Given the description of an element on the screen output the (x, y) to click on. 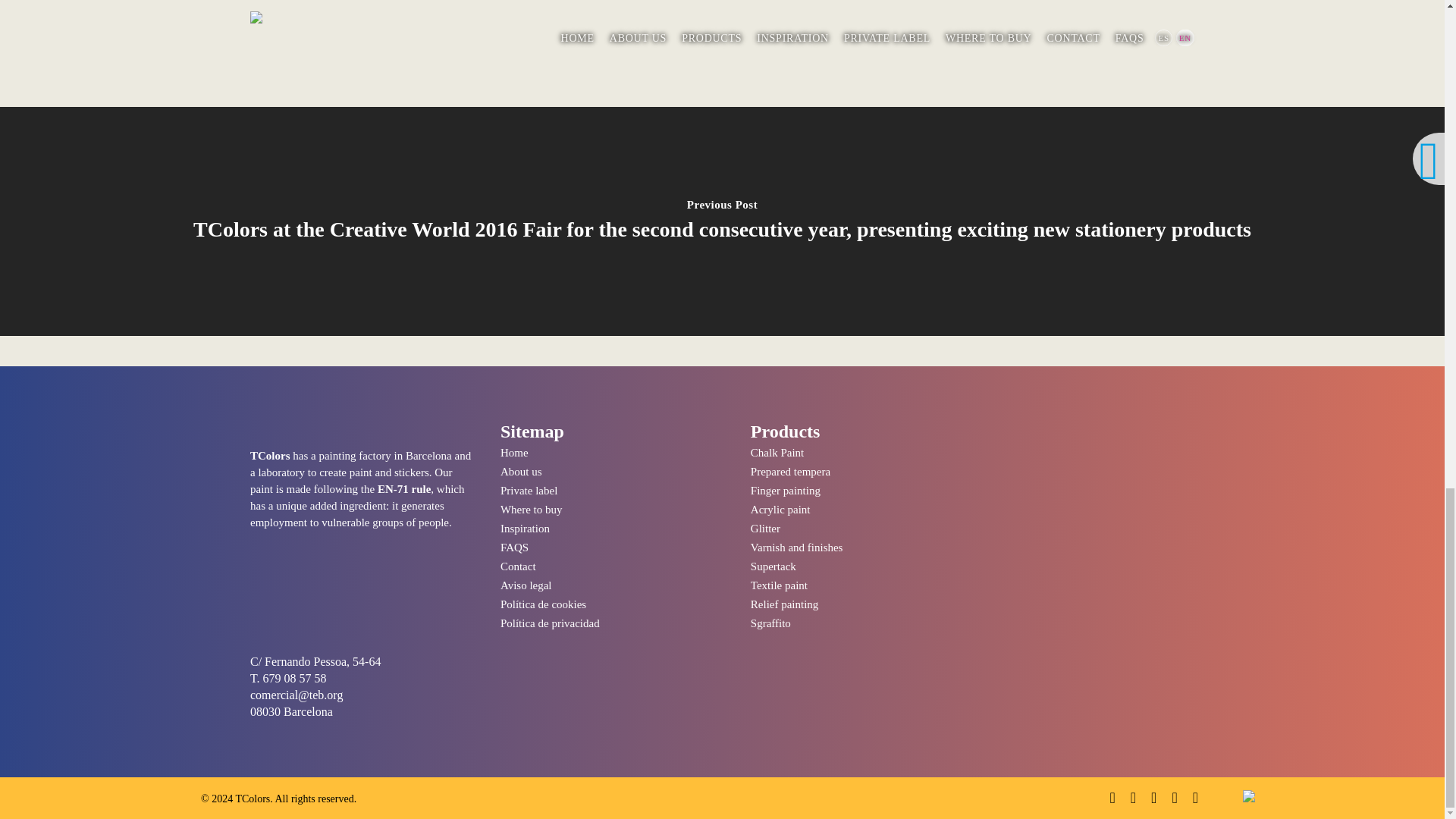
Varnish and finishes (861, 547)
Aviso legal (611, 585)
Chalk Paint (861, 452)
Textile paint (861, 585)
Private label (611, 490)
FAQS (611, 547)
Glitter (861, 528)
Contact (611, 566)
Sgraffito (861, 623)
Where to buy (611, 509)
